Given the description of an element on the screen output the (x, y) to click on. 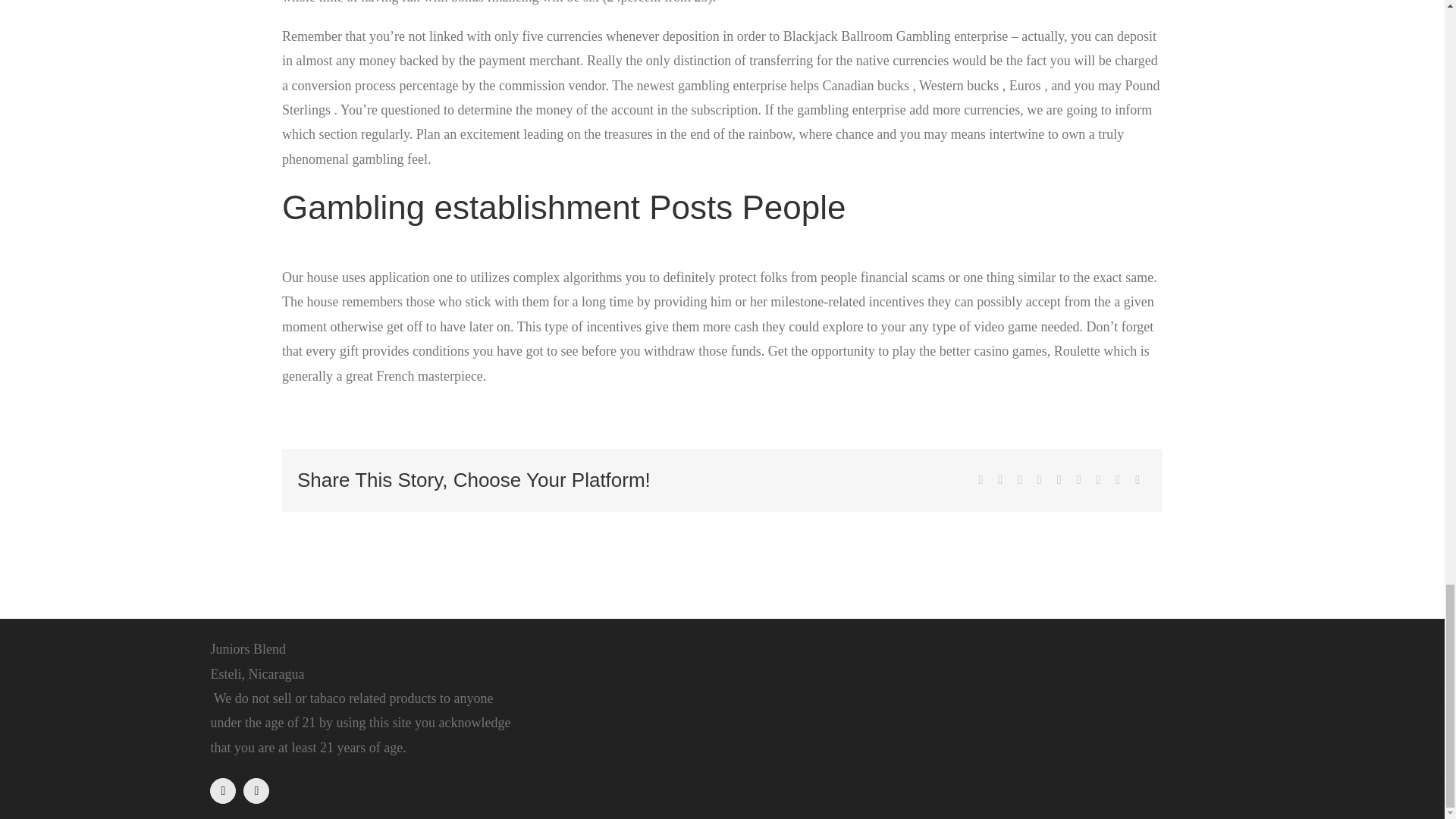
Tumblr (1078, 480)
LinkedIn (1039, 480)
Reddit (1019, 480)
Facebook (222, 790)
Instagram (256, 790)
Twitter (1000, 480)
Facebook (980, 480)
Vk (1117, 480)
Email (1136, 480)
Pinterest (1097, 480)
WhatsApp (1058, 480)
